Given the description of an element on the screen output the (x, y) to click on. 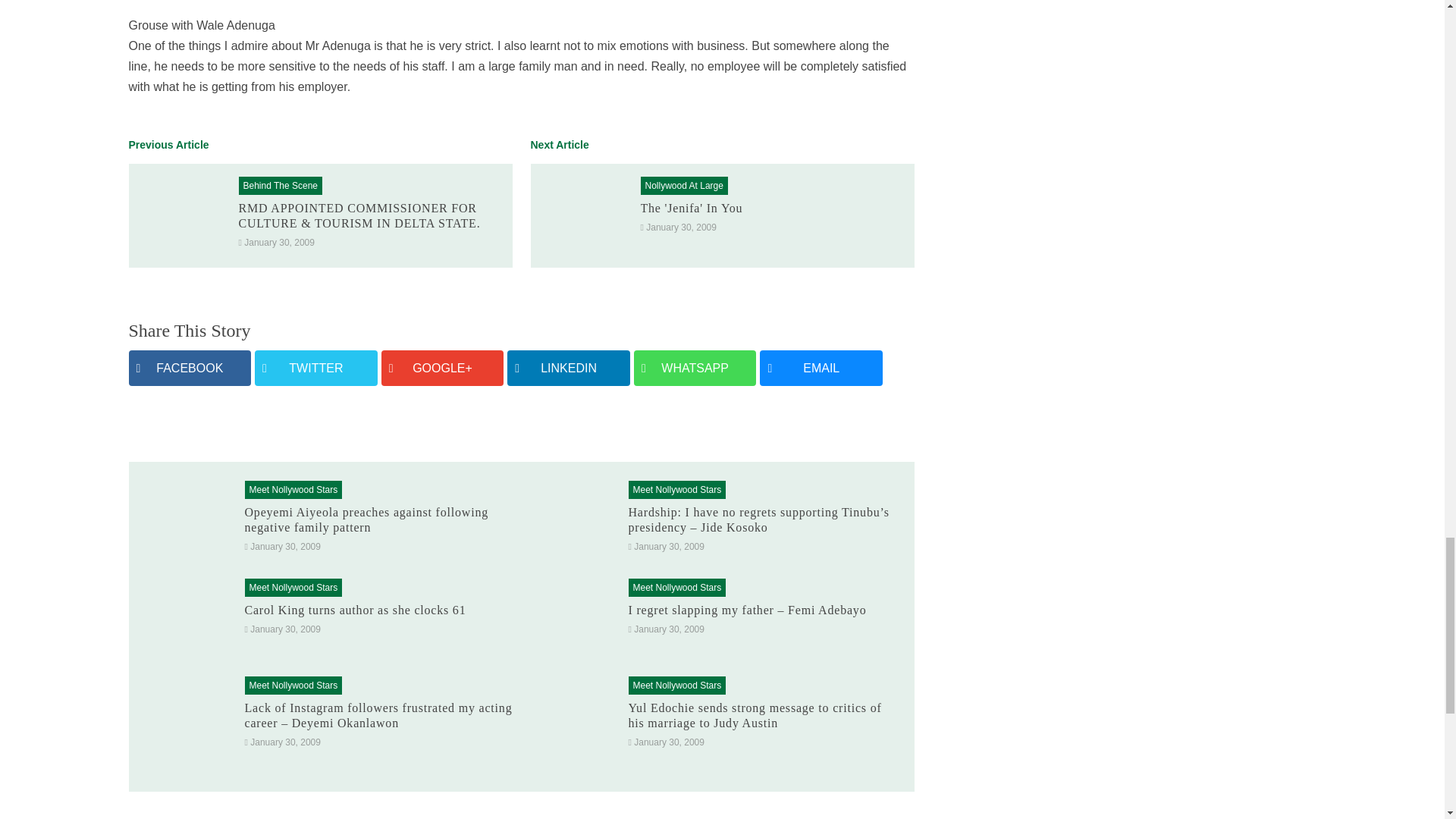
Nollywood At Large (683, 185)
twitter (315, 367)
Nollywood At Large (683, 185)
whatsapp (695, 367)
linkedin (568, 367)
The 'Jenifa' In You (583, 214)
TWITTER (315, 367)
googleplus (442, 367)
Behind the scene (280, 185)
The 'Jenifa' In You (691, 207)
The 'Jenifa' In You (691, 207)
FACEBOOK (190, 367)
facebook (190, 367)
Behind The Scene (280, 185)
